Given the description of an element on the screen output the (x, y) to click on. 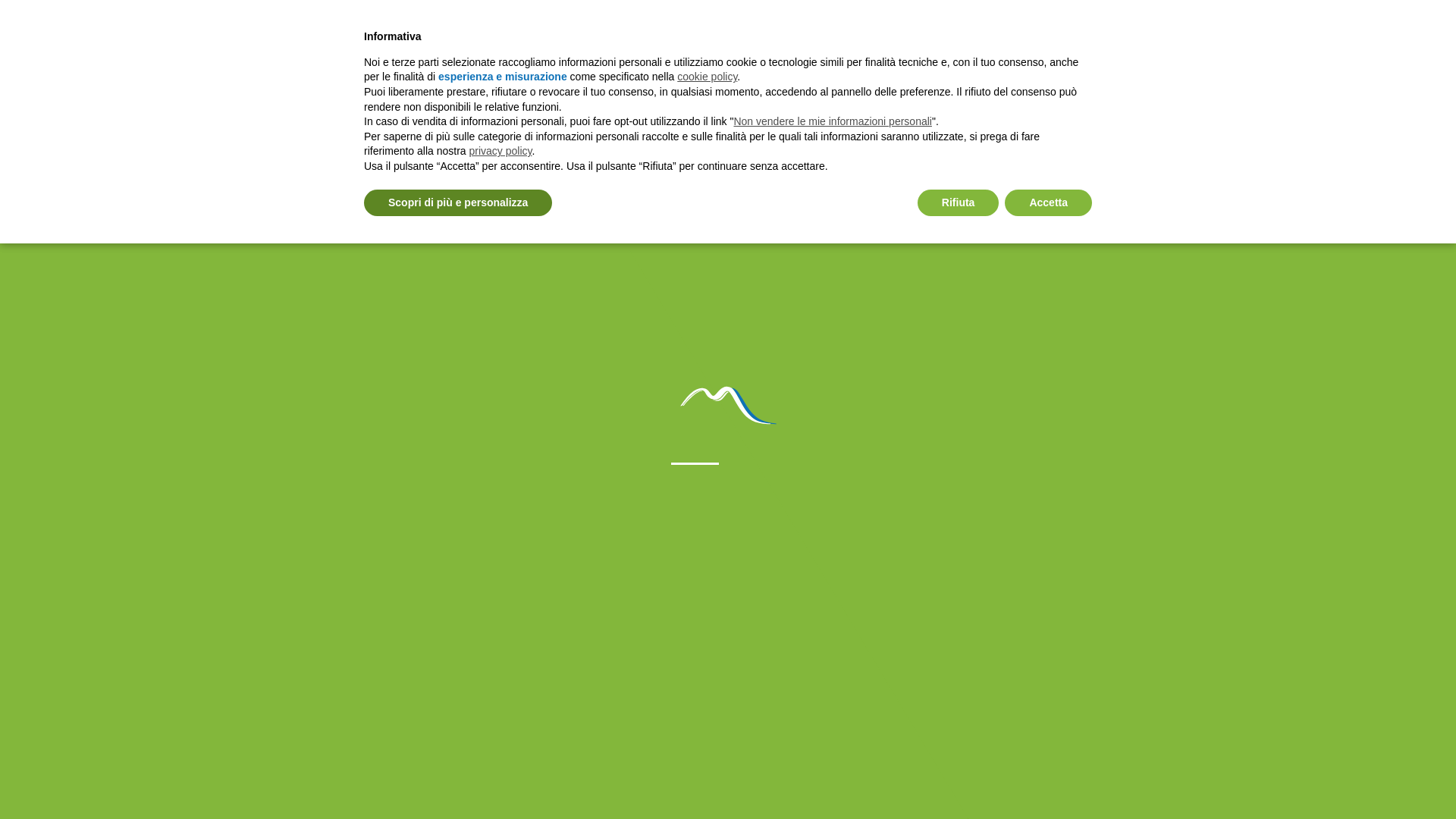
Rifiuta (957, 203)
privacy policy (500, 150)
Eng (39, 212)
Accetta (1048, 203)
Non vendere le mie informazioni personali (832, 121)
Home (60, 108)
cookie policy (706, 76)
